Given the description of an element on the screen output the (x, y) to click on. 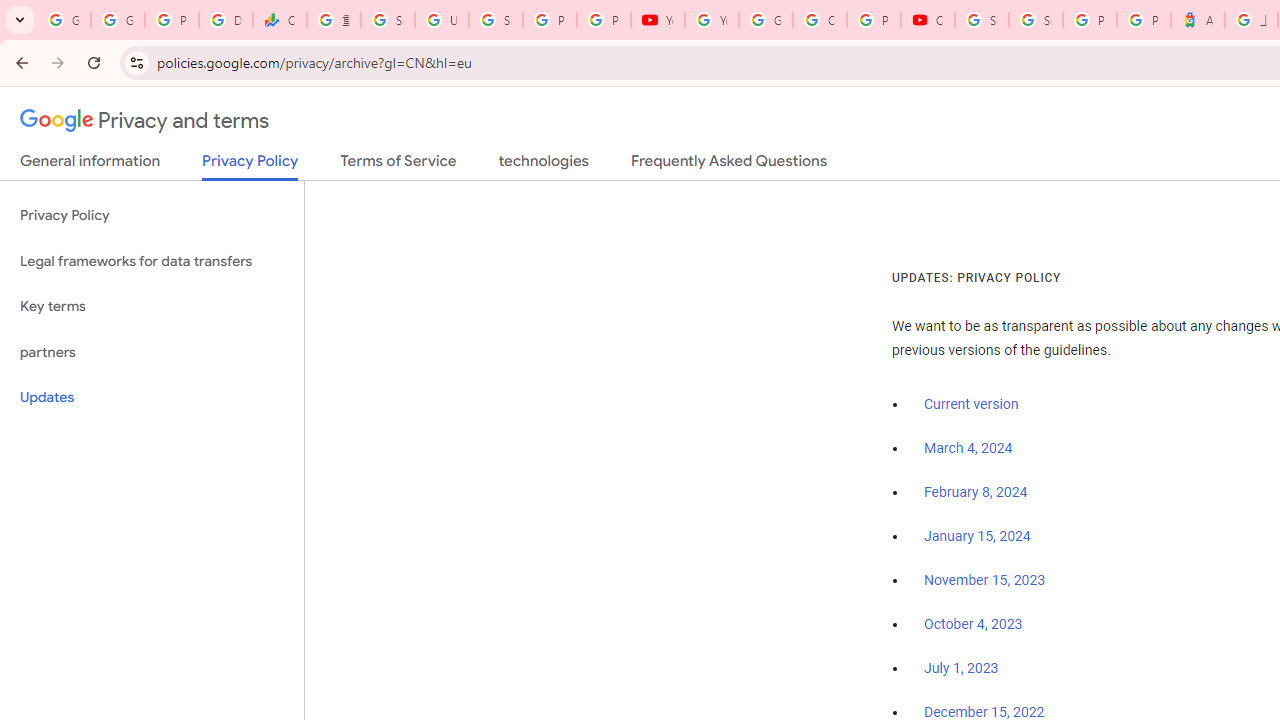
Forward (57, 62)
partners (152, 352)
Frequently Asked Questions (727, 165)
Sign in - Google Accounts (495, 20)
Sign in - Google Accounts (387, 20)
October 4, 2023 (973, 625)
Sign in - Google Accounts (981, 20)
Google Workspace Admin Community (63, 20)
Create your Google Account (819, 20)
Atour Hotel - Google hotels (1197, 20)
Privacy Checkup (604, 20)
Legal frameworks for data transfers (152, 261)
